Given the description of an element on the screen output the (x, y) to click on. 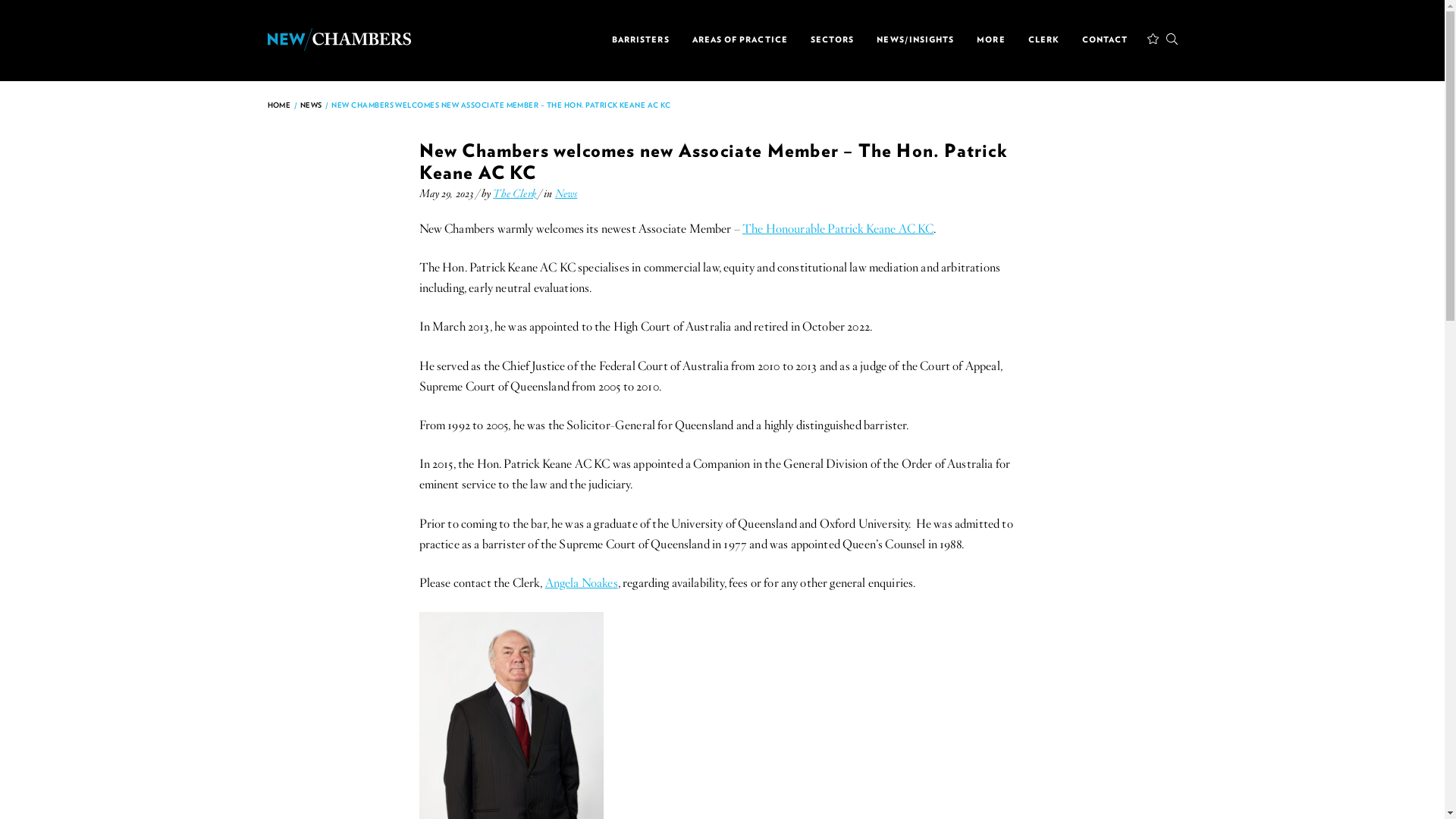
New Chambers (338, 38)
BARRISTERS (640, 39)
News (566, 192)
SECTORS (832, 39)
NEWS (310, 103)
CLERK (1043, 39)
AREAS OF PRACTICE (740, 39)
The Clerk (514, 192)
The Honourable Patrick Keane AC KC (837, 228)
Angela Noakes (580, 582)
